Given the description of an element on the screen output the (x, y) to click on. 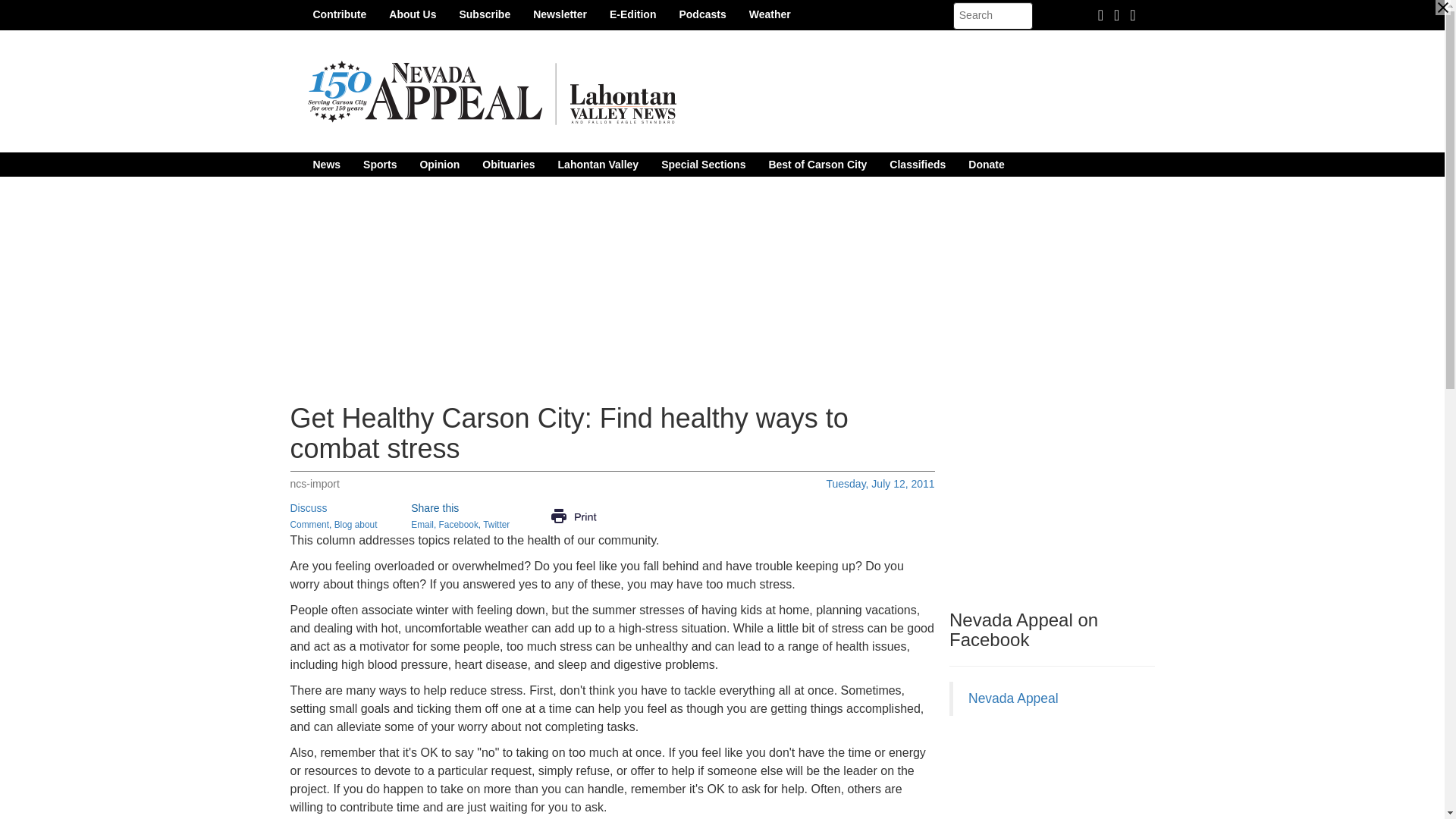
Weather (770, 14)
News (326, 164)
Special Sections (703, 164)
Lahontan Valley (598, 164)
Opinion (438, 164)
Best of Carson City (817, 164)
About Us (411, 14)
E-Edition (632, 14)
Subscribe (483, 14)
Sports (379, 164)
Printer Friendly and PDF (572, 515)
Classifieds (916, 164)
Newsletter (559, 14)
Obituaries (508, 164)
Contribute (339, 14)
